Given the description of an element on the screen output the (x, y) to click on. 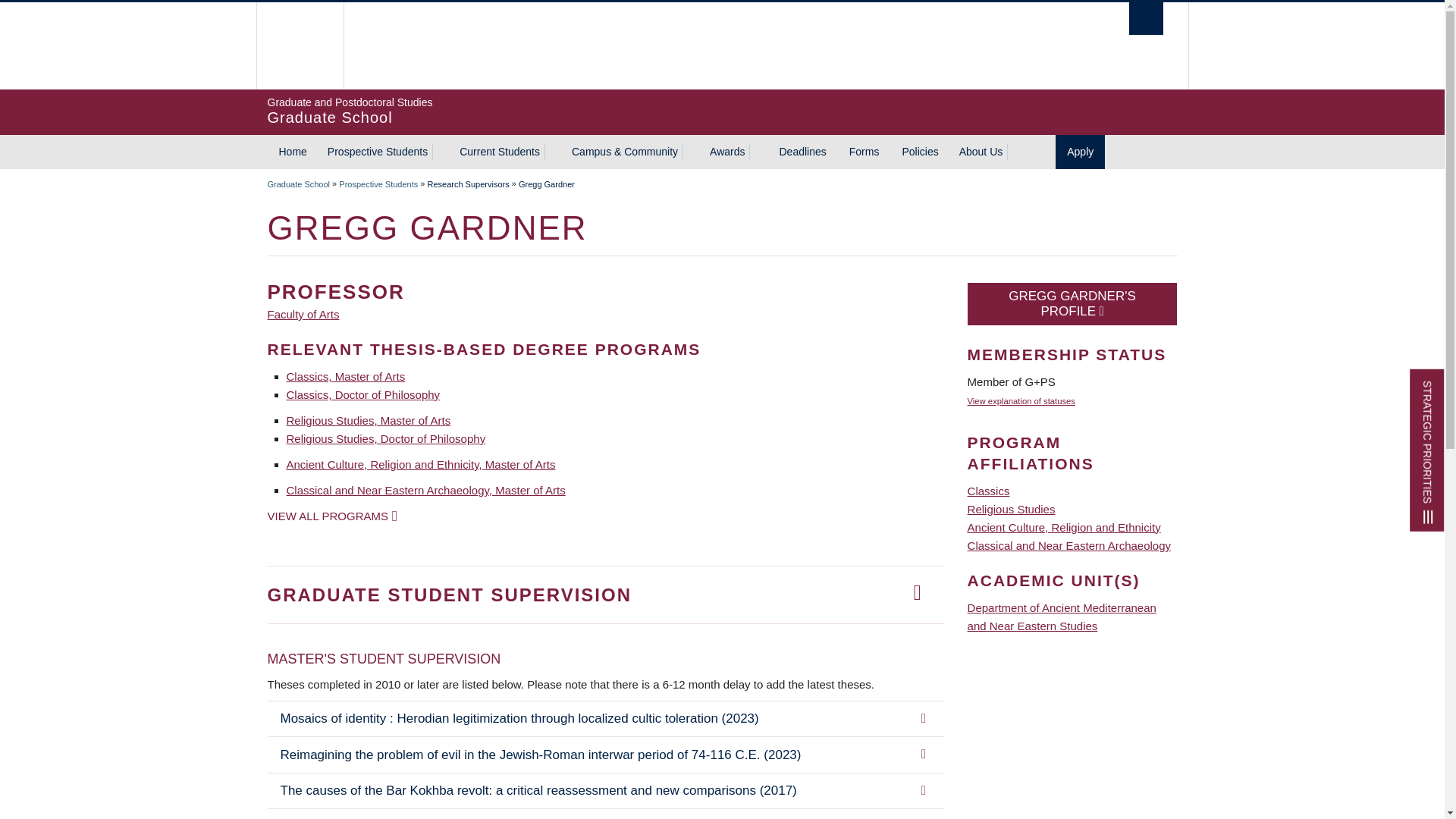
Prospective Students (375, 151)
Current Students (496, 151)
UBC Search (623, 45)
Home (1146, 18)
The University of British Columbia (721, 110)
Prospective Students (291, 151)
What does this mean? (299, 45)
